Given the description of an element on the screen output the (x, y) to click on. 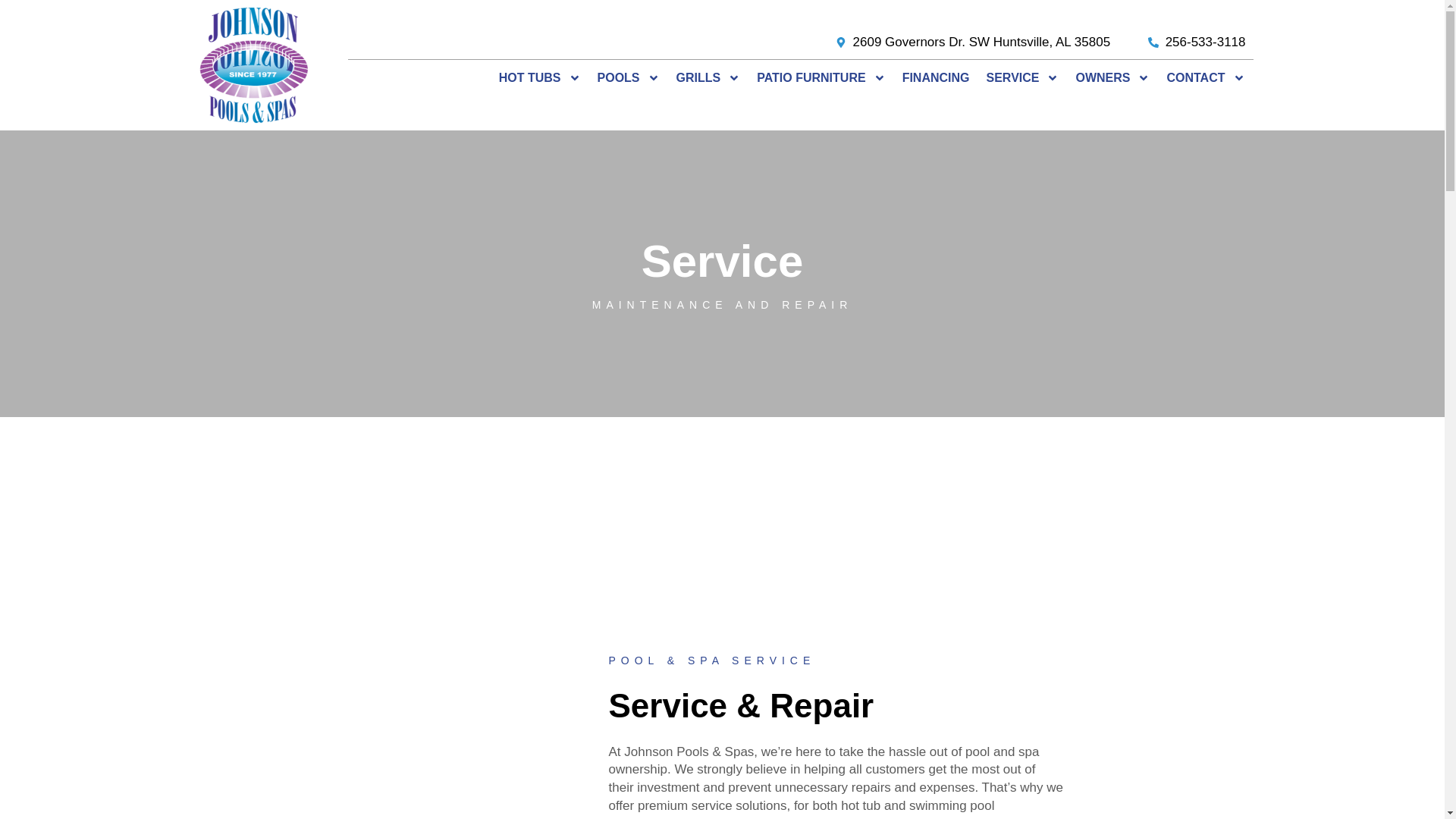
logo (252, 64)
FINANCING (935, 77)
256-533-3118 (1196, 42)
PATIO FURNITURE (820, 77)
GRILLS (708, 77)
2609 Governors Dr. SW Huntsville, AL 35805 (972, 42)
SERVICE (1022, 77)
HOT TUBS (539, 77)
POOLS (628, 77)
